Given the description of an element on the screen output the (x, y) to click on. 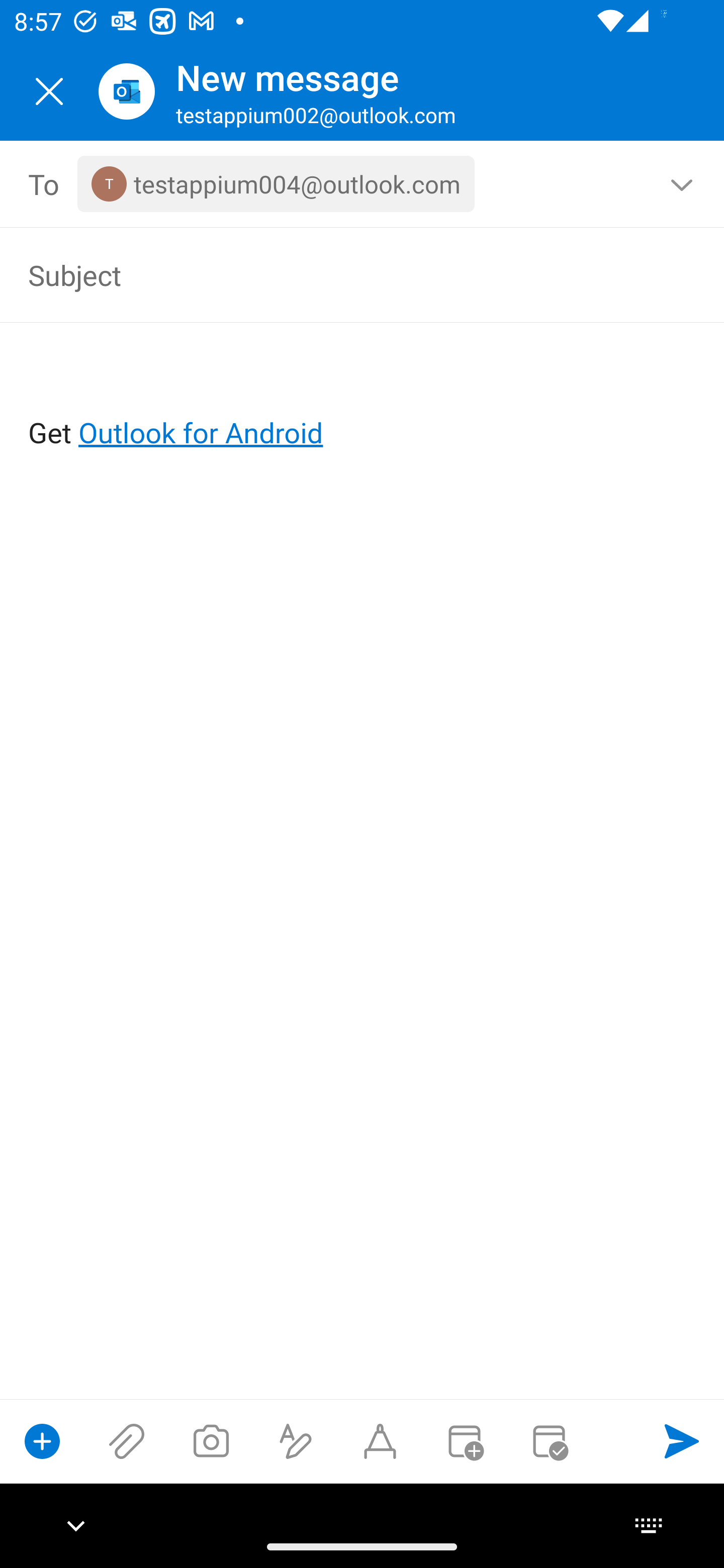
Close (49, 91)
To, 1 recipient <testappium004@outlook.com> (362, 184)
Subject (333, 274)


Get Outlook for Android (363, 400)
Show compose options (42, 1440)
Attach files (126, 1440)
Take a photo (210, 1440)
Show formatting options (295, 1440)
Start Ink compose (380, 1440)
Convert to event (464, 1440)
Send availability (548, 1440)
Send (681, 1440)
